Given the description of an element on the screen output the (x, y) to click on. 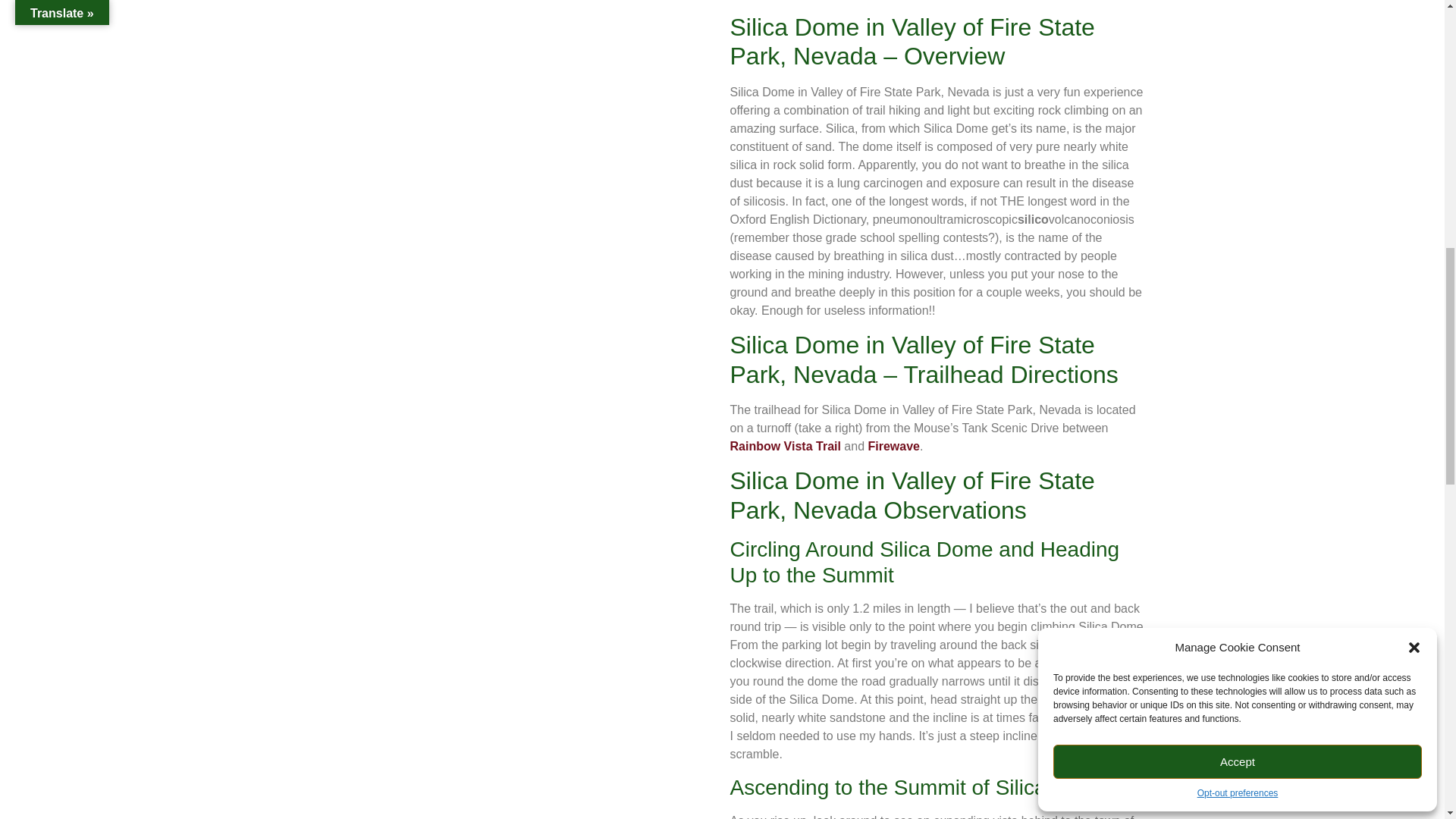
Silica Dome in Valley of Fire State Park, Nevada (505, 532)
